Given the description of an element on the screen output the (x, y) to click on. 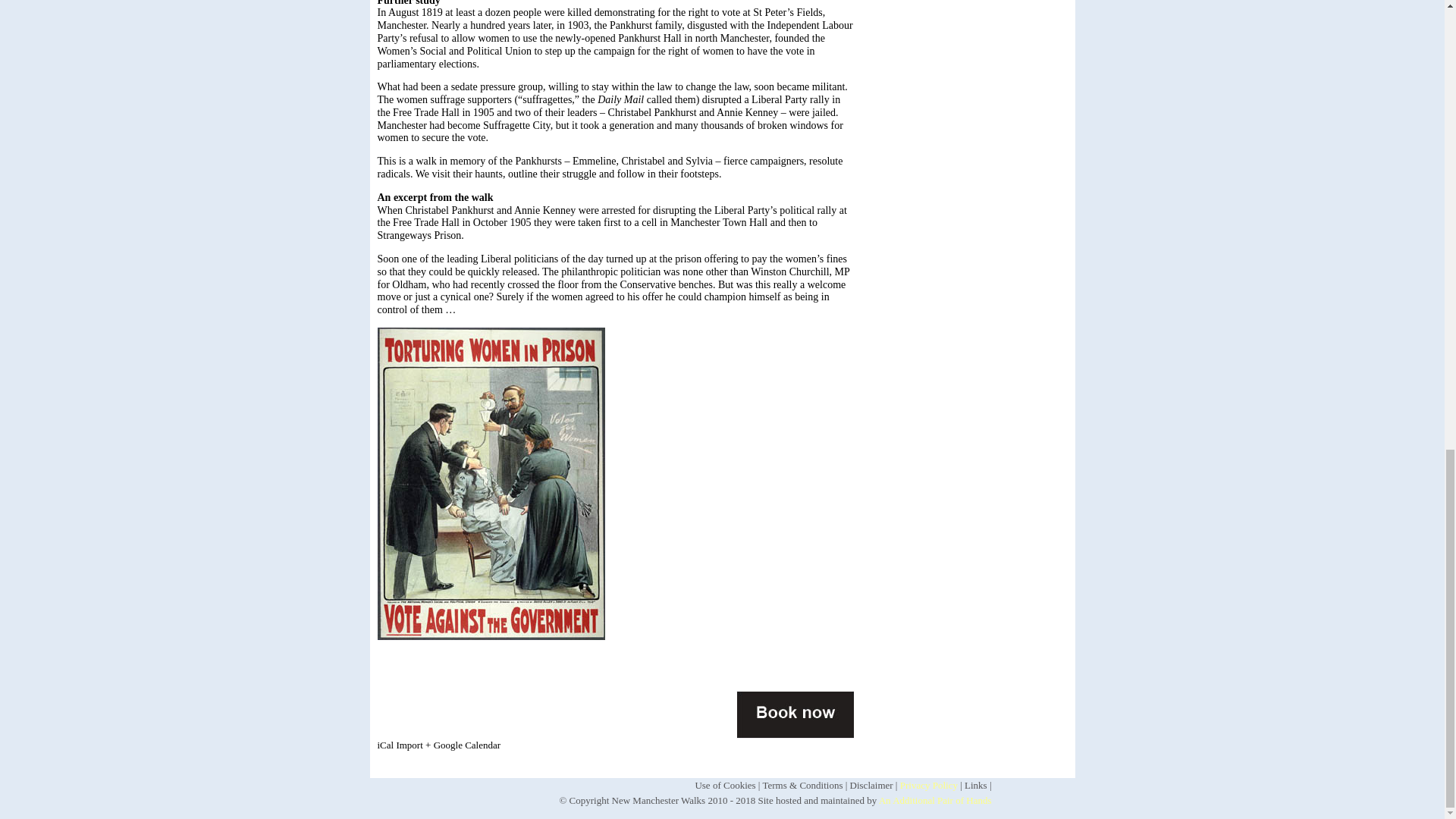
Links (975, 785)
Use of Cookies (724, 785)
An Additional Pair of Hands (935, 799)
Add to Google Calendar (462, 745)
iCal Import (400, 745)
Disclaimer (871, 785)
Privacy Policy (928, 785)
